Given the description of an element on the screen output the (x, y) to click on. 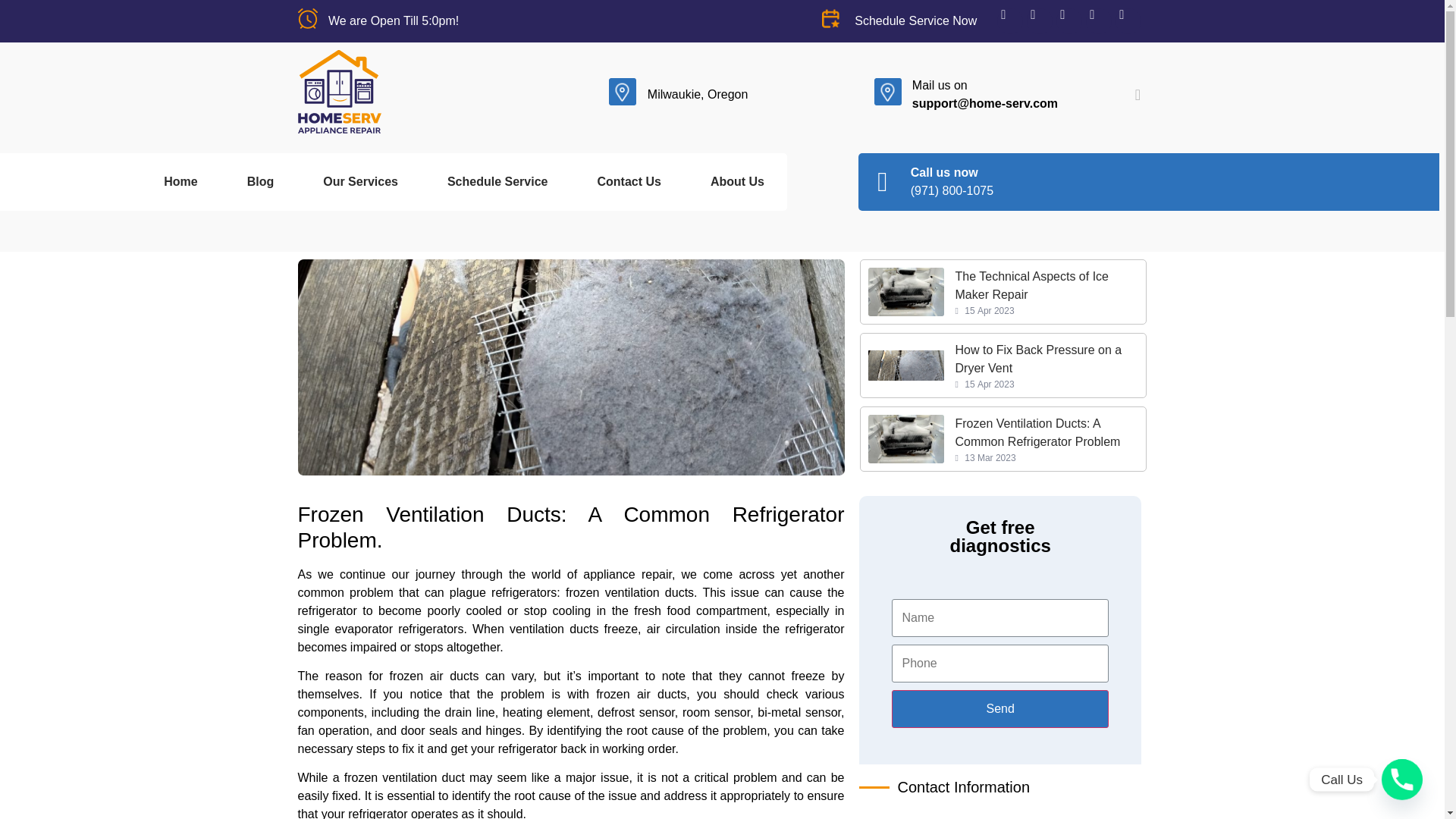
Blog (259, 181)
Contact Us (626, 181)
Home (313, 234)
Home (177, 181)
About Us (735, 181)
Our Services (358, 181)
How to Fix Back Pressure on a Dryer Vent (1003, 291)
Schedule Service (544, 234)
Post Archives (1003, 365)
